Given the description of an element on the screen output the (x, y) to click on. 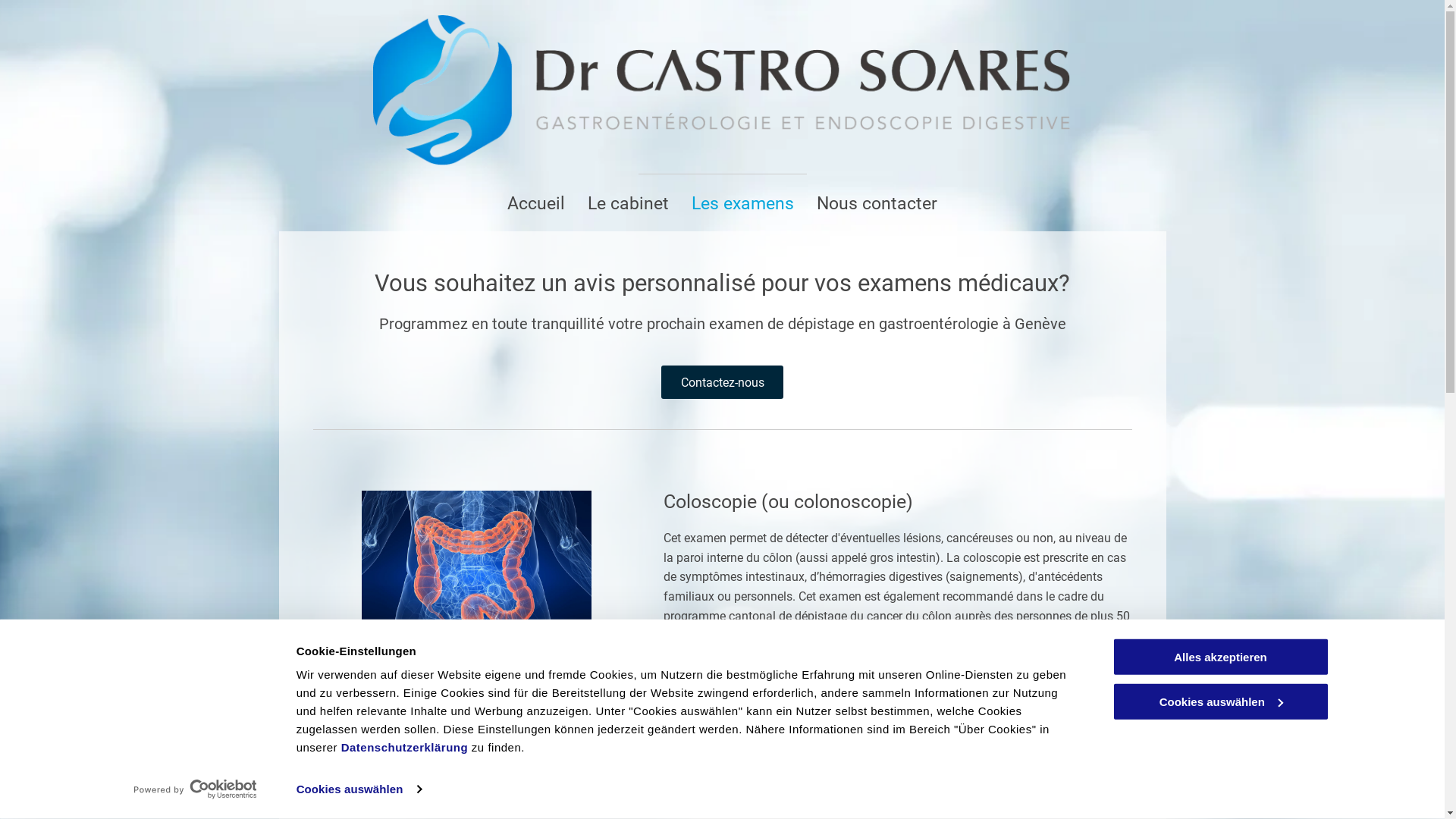
Accueil Element type: text (535, 203)
Le cabinet Element type: text (628, 203)
Les examens Element type: text (742, 203)
Alles akzeptieren Element type: text (1219, 656)
Nous contacter Element type: text (876, 203)
Contactez-nous Element type: text (722, 381)
contactez Element type: text (827, 719)
Brochure Element type: text (897, 775)
